Given the description of an element on the screen output the (x, y) to click on. 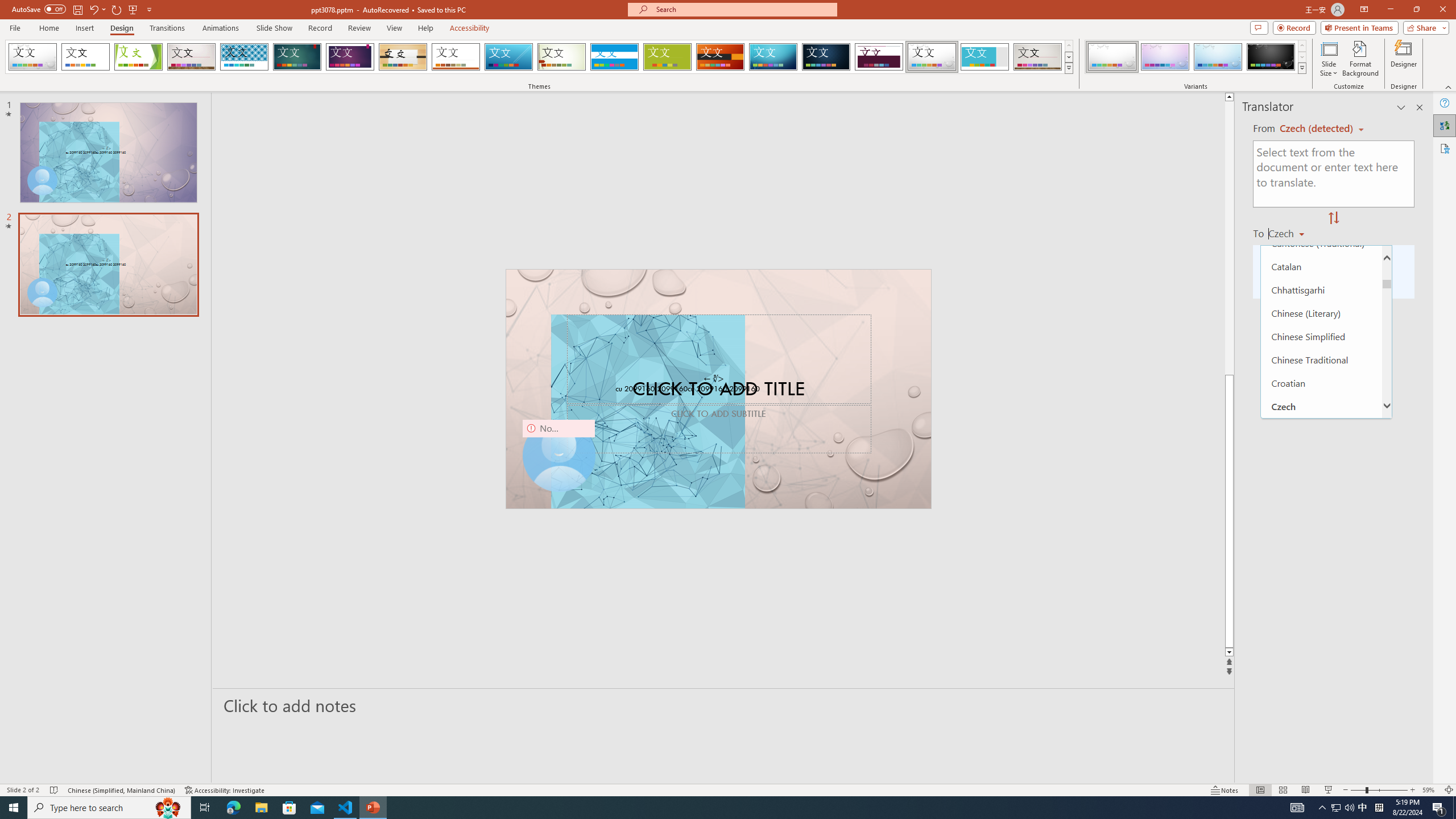
Bodo (1320, 173)
Frame (984, 56)
Format Background (1360, 58)
Bulgarian (1320, 219)
Droplet Variant 1 (1112, 56)
Wisp (561, 56)
Retrospect (455, 56)
Filipino (1320, 638)
Organic (403, 56)
Slice (508, 56)
